Given the description of an element on the screen output the (x, y) to click on. 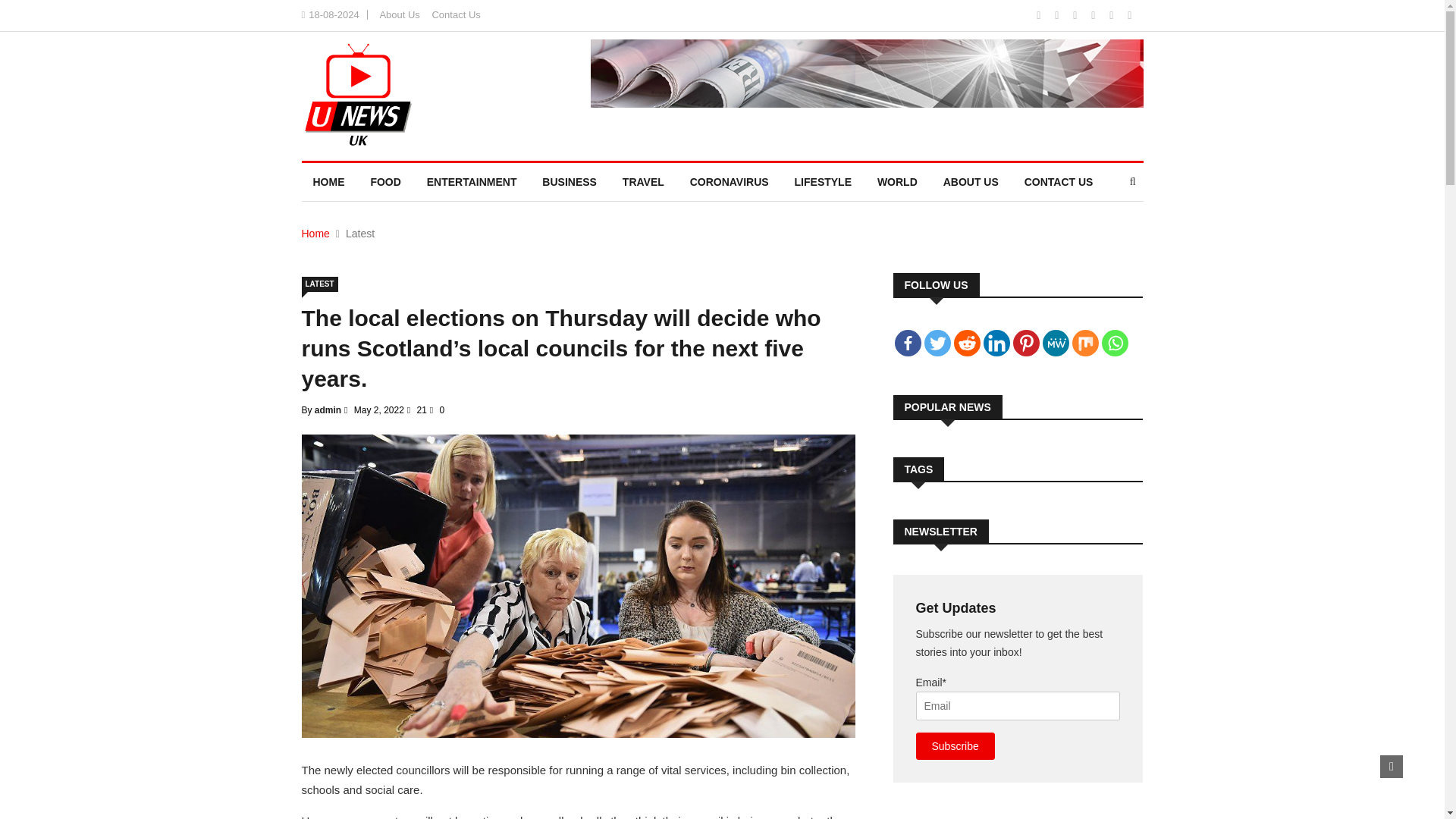
Pinterest (1026, 343)
Mix (1085, 343)
admin (327, 409)
TRAVEL (643, 181)
About Us (398, 14)
LIFESTYLE (823, 181)
CONTACT US (1059, 181)
Reddit (966, 343)
ABOUT US (970, 181)
WORLD (897, 181)
